Given the description of an element on the screen output the (x, y) to click on. 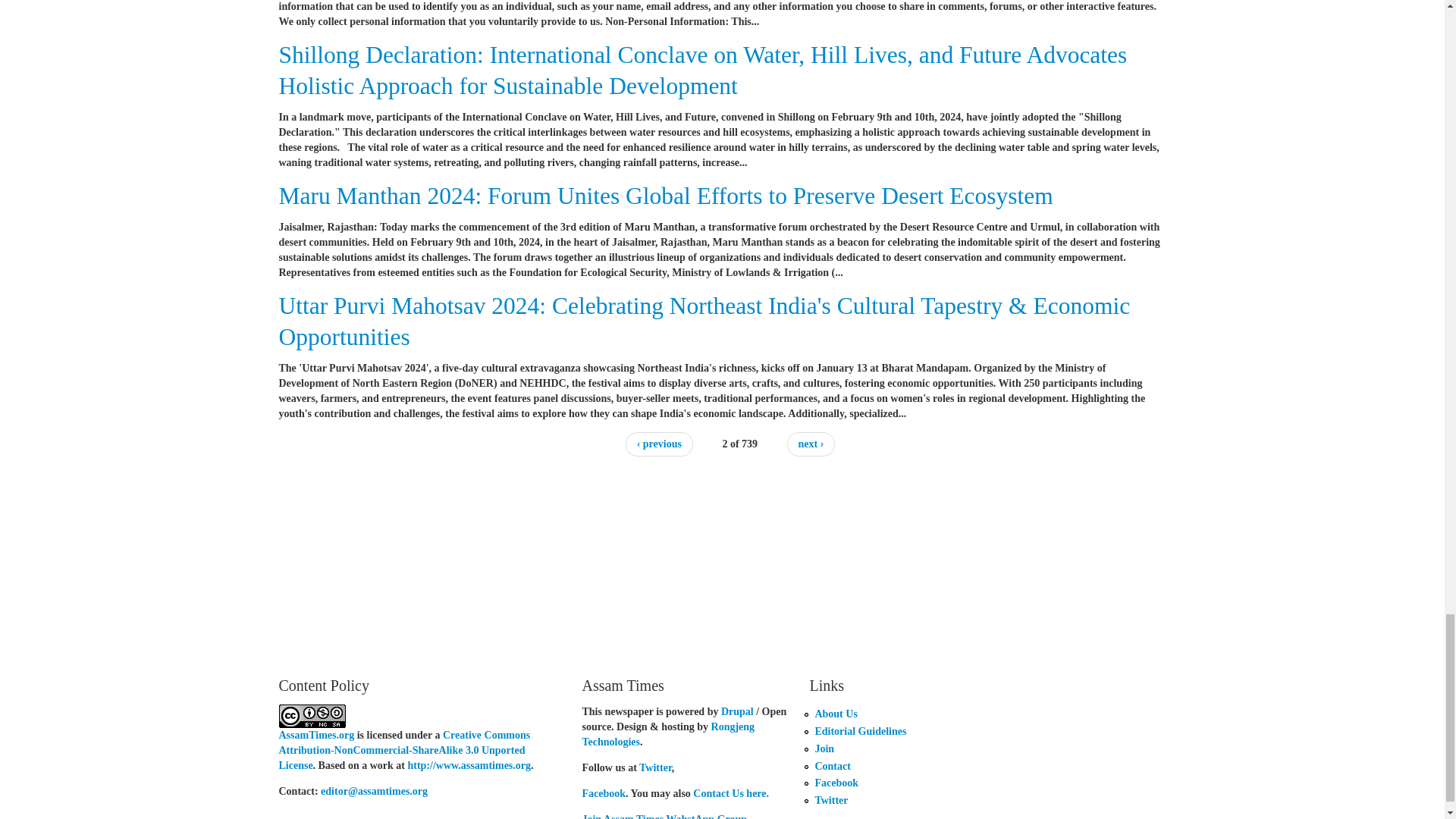
Go to previous page (659, 444)
